Given the description of an element on the screen output the (x, y) to click on. 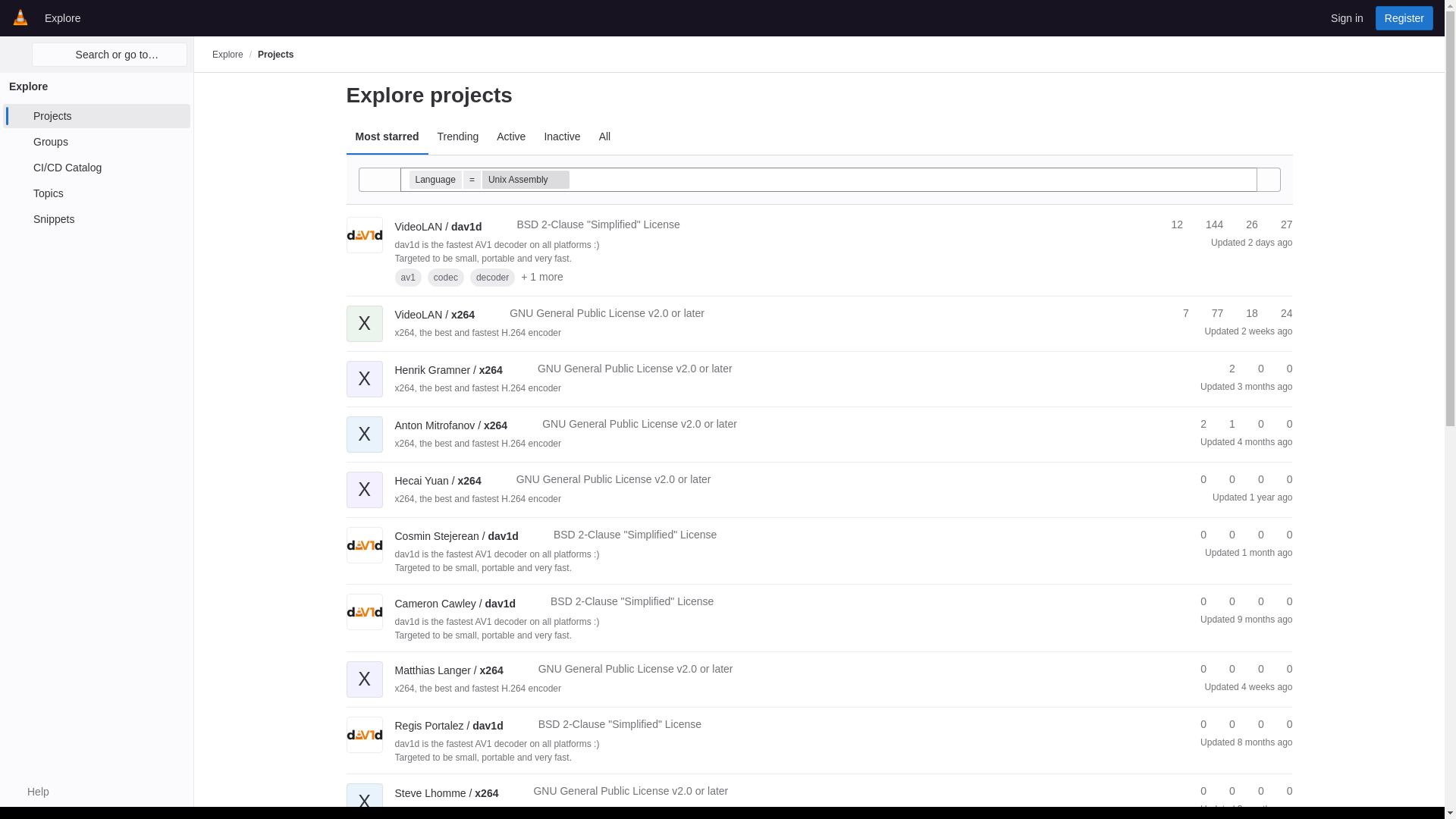
Trending (457, 135)
Clear (1243, 179)
Snippets (96, 218)
Register (1403, 17)
Explore (62, 17)
Stars (1179, 313)
Projects (96, 115)
Active (510, 135)
Forks (1211, 313)
Forks (1207, 224)
